Given the description of an element on the screen output the (x, y) to click on. 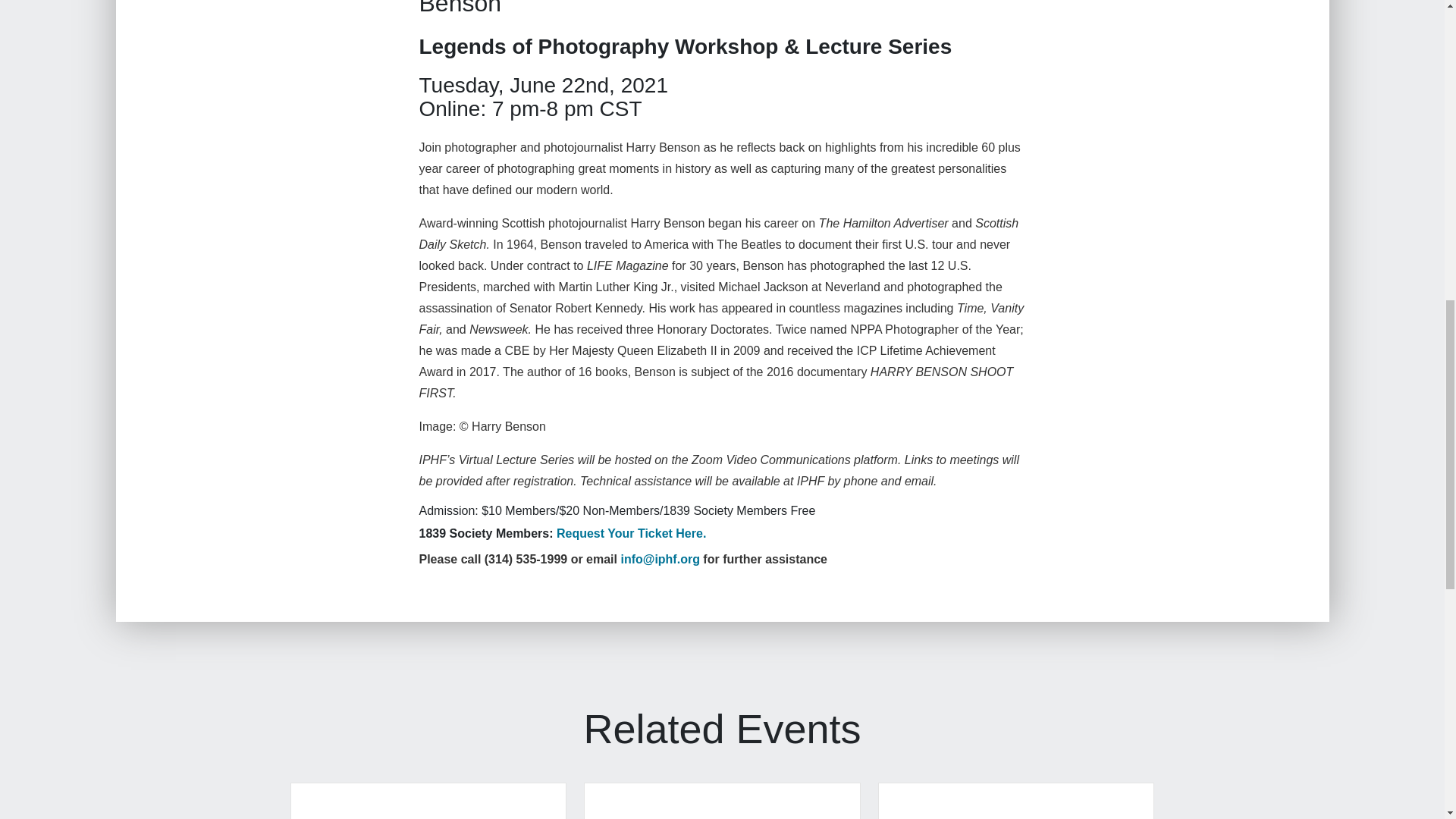
Request Your Ticket Here. (631, 533)
